Given the description of an element on the screen output the (x, y) to click on. 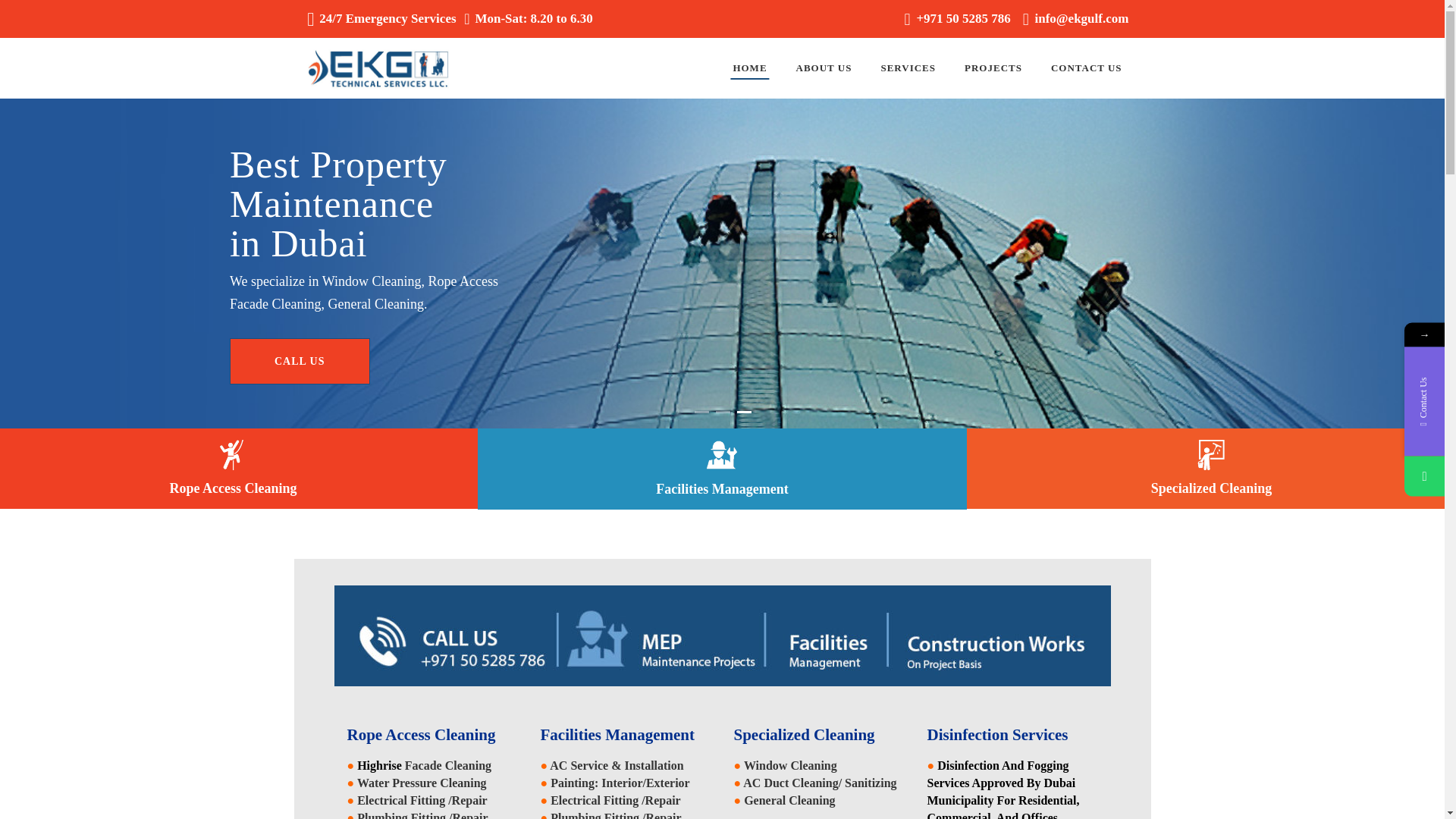
CONTACT US (1086, 67)
PROJECTS (993, 67)
CALL US (299, 361)
HOME (748, 67)
ABOUT US (823, 67)
SERVICES (908, 67)
